Given the description of an element on the screen output the (x, y) to click on. 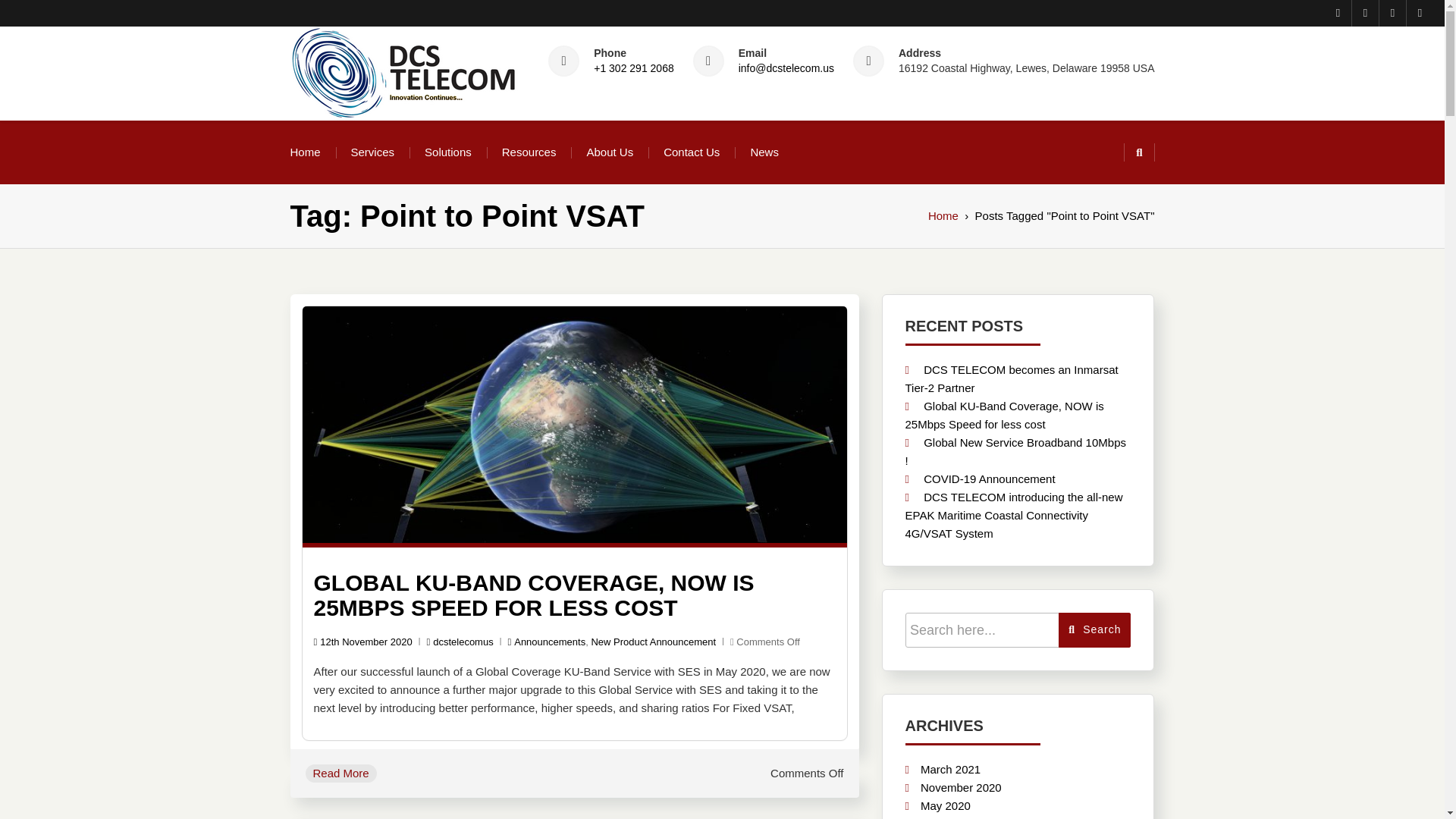
Read More (339, 773)
News (763, 152)
Home (304, 152)
Resources (529, 152)
Contact Us (691, 152)
dcstelecomus (459, 641)
High Speed Satellite Internet (463, 134)
12th November 2020 (363, 641)
New Product Announcement (653, 641)
Services (372, 152)
GLOBAL KU-BAND COVERAGE, NOW IS 25MBPS SPEED FOR LESS COST (534, 594)
Solutions (448, 152)
Announcements (549, 641)
